Given the description of an element on the screen output the (x, y) to click on. 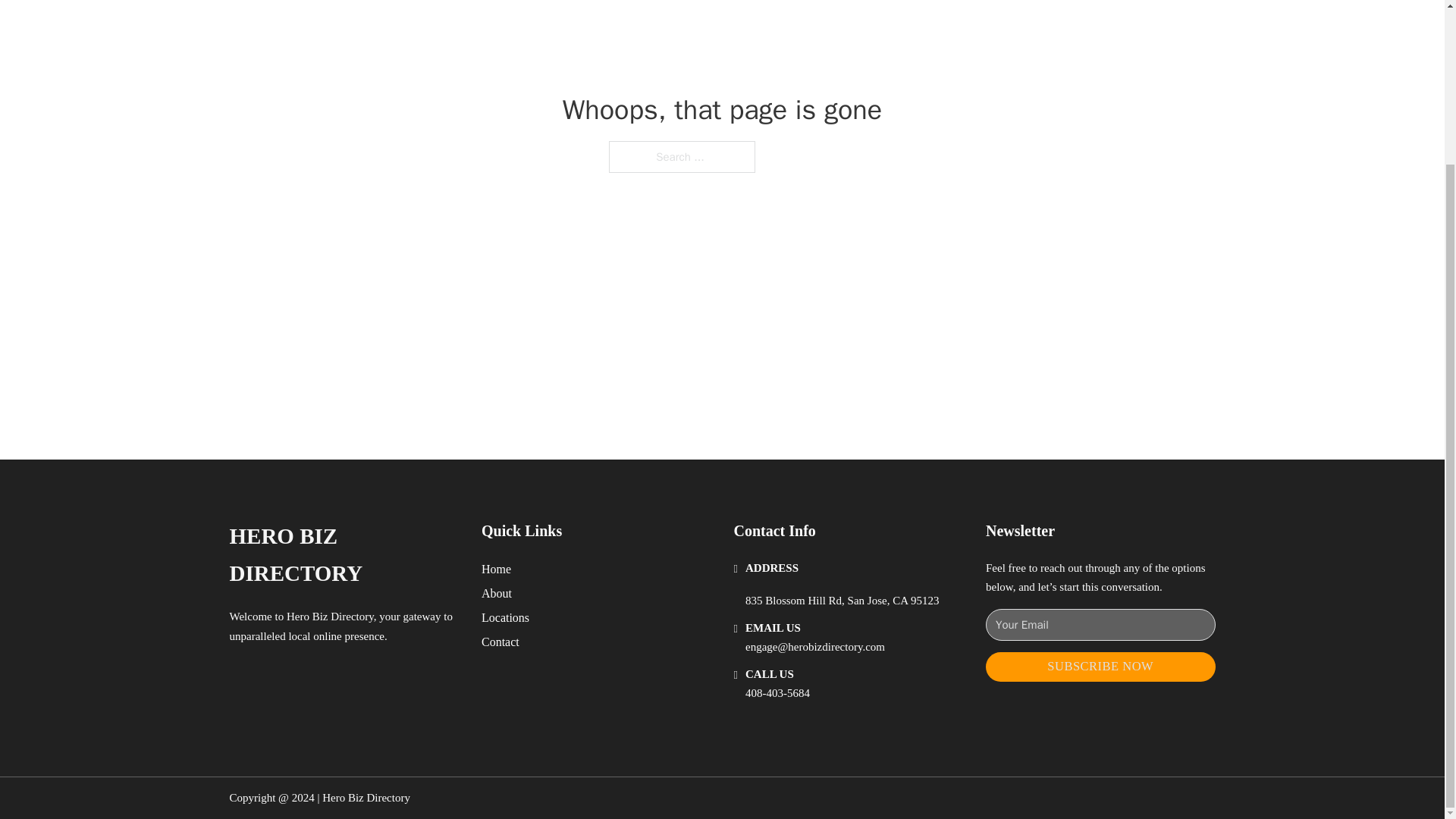
Home (496, 568)
Locations (505, 617)
408-403-5684 (777, 693)
SUBSCRIBE NOW (1100, 666)
About (496, 593)
HERO BIZ DIRECTORY (343, 554)
Contact (500, 641)
